Given the description of an element on the screen output the (x, y) to click on. 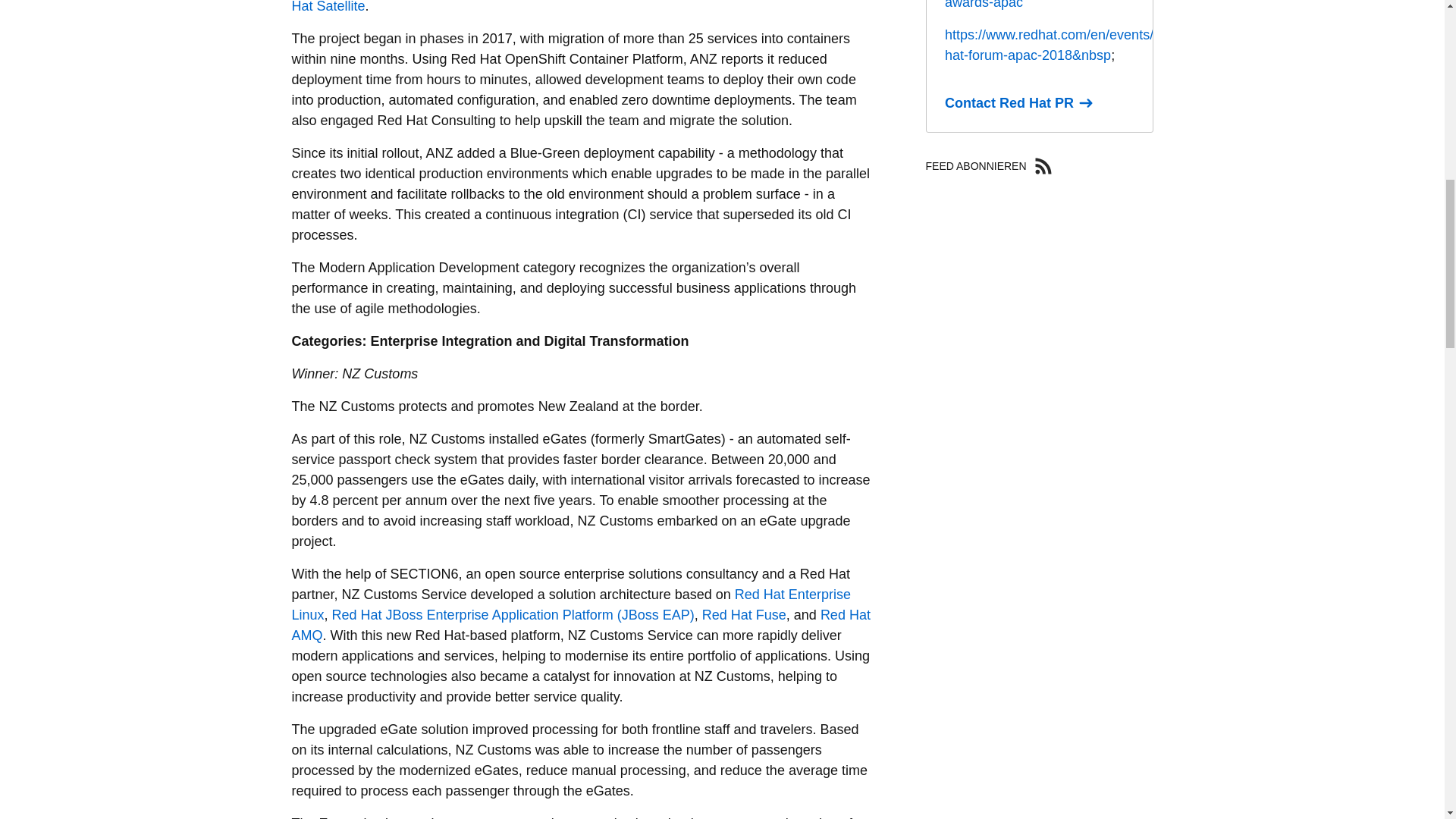
Contact Red Hat PR (1018, 103)
Feed abonnieren (1042, 166)
